Given the description of an element on the screen output the (x, y) to click on. 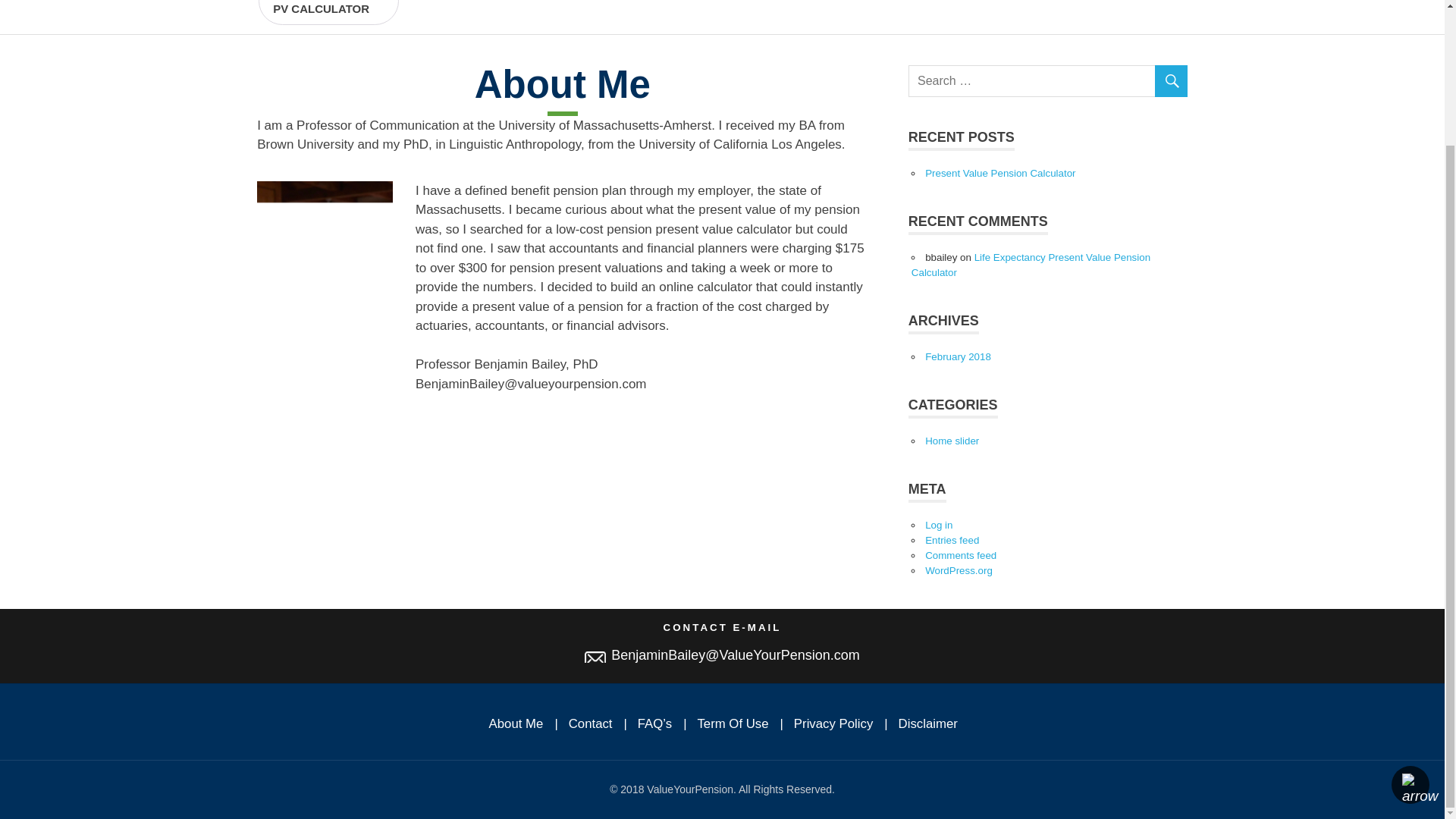
Term Of Use (328, 12)
Privacy Policy (732, 723)
Log in (832, 723)
Disclaimer (938, 524)
About Me (928, 723)
Home slider (516, 723)
WordPress.org (951, 440)
Present Value Pension Calculator (958, 570)
Contact (999, 173)
Entries feed (590, 723)
Search for: (951, 540)
Comments feed (1048, 81)
February 2018 (959, 555)
Life Expectancy Present Value Pension Calculator (957, 356)
